Given the description of an element on the screen output the (x, y) to click on. 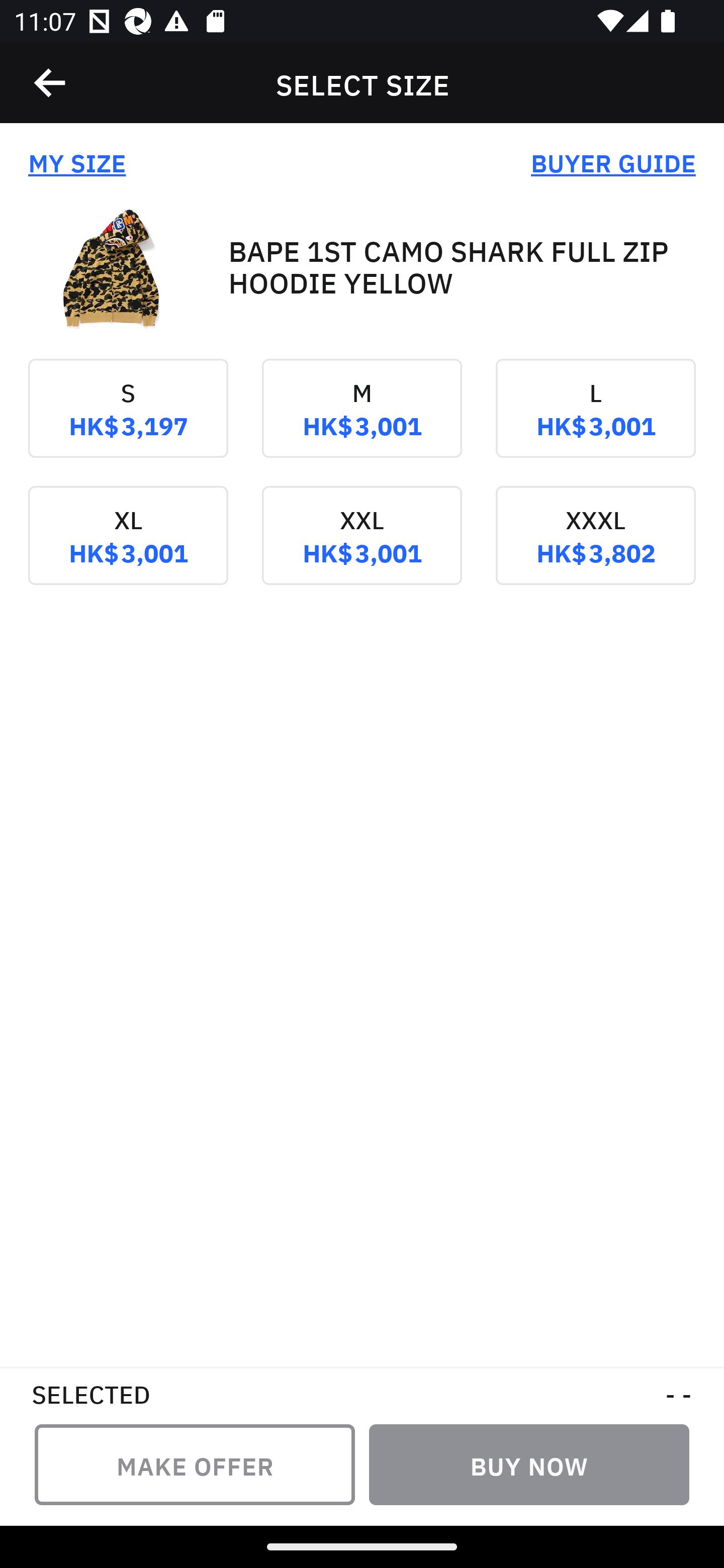
 (50, 83)
S HK$ 3,197 (128, 422)
M HK$ 3,001 (361, 422)
L HK$ 3,001 (595, 422)
XL HK$ 3,001 (128, 549)
XXL HK$ 3,001 (361, 549)
XXXL HK$ 3,802 (595, 549)
MAKE OFFER (194, 1464)
BUY NOW (529, 1464)
